Given the description of an element on the screen output the (x, y) to click on. 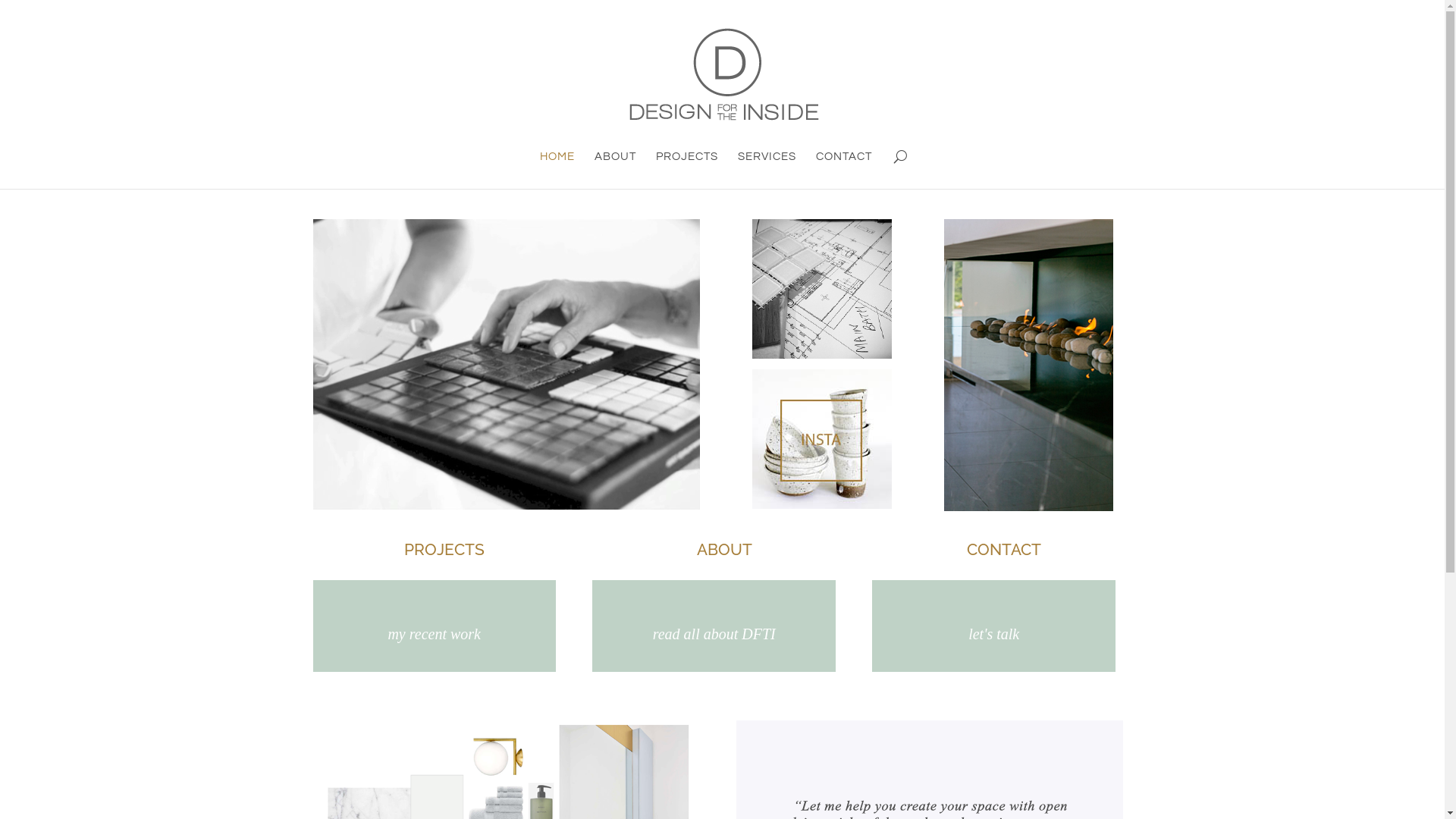
my recent work Element type: text (433, 633)
read all about DFTI Element type: text (713, 633)
SERVICES Element type: text (766, 169)
HOME Element type: text (556, 169)
PROJECTS Element type: text (433, 548)
ABOUT Element type: text (615, 169)
Fireplace Element type: hover (1028, 365)
CONTACT Element type: text (993, 548)
let's talk Element type: text (993, 633)
PROJECTS Element type: text (686, 169)
CONTACT Element type: text (843, 169)
ABOUT Element type: text (714, 548)
